Given the description of an element on the screen output the (x, y) to click on. 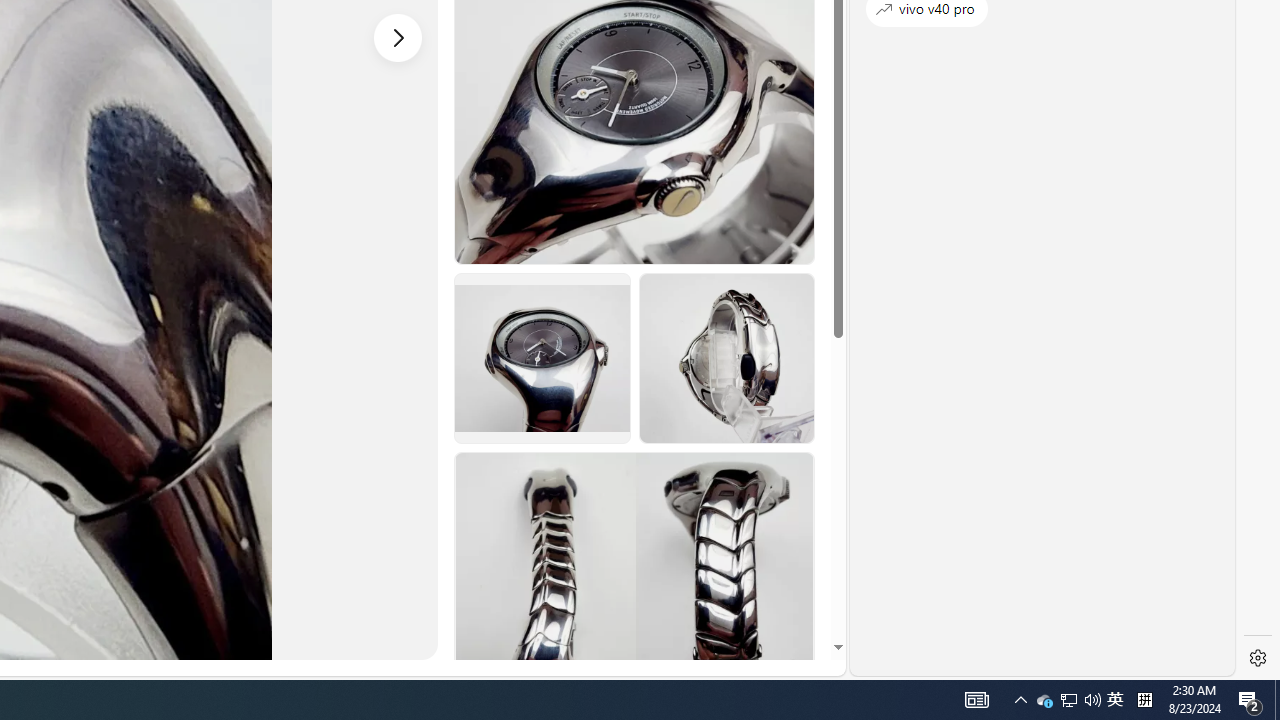
Next image - Item images thumbnails (397, 37)
